Given the description of an element on the screen output the (x, y) to click on. 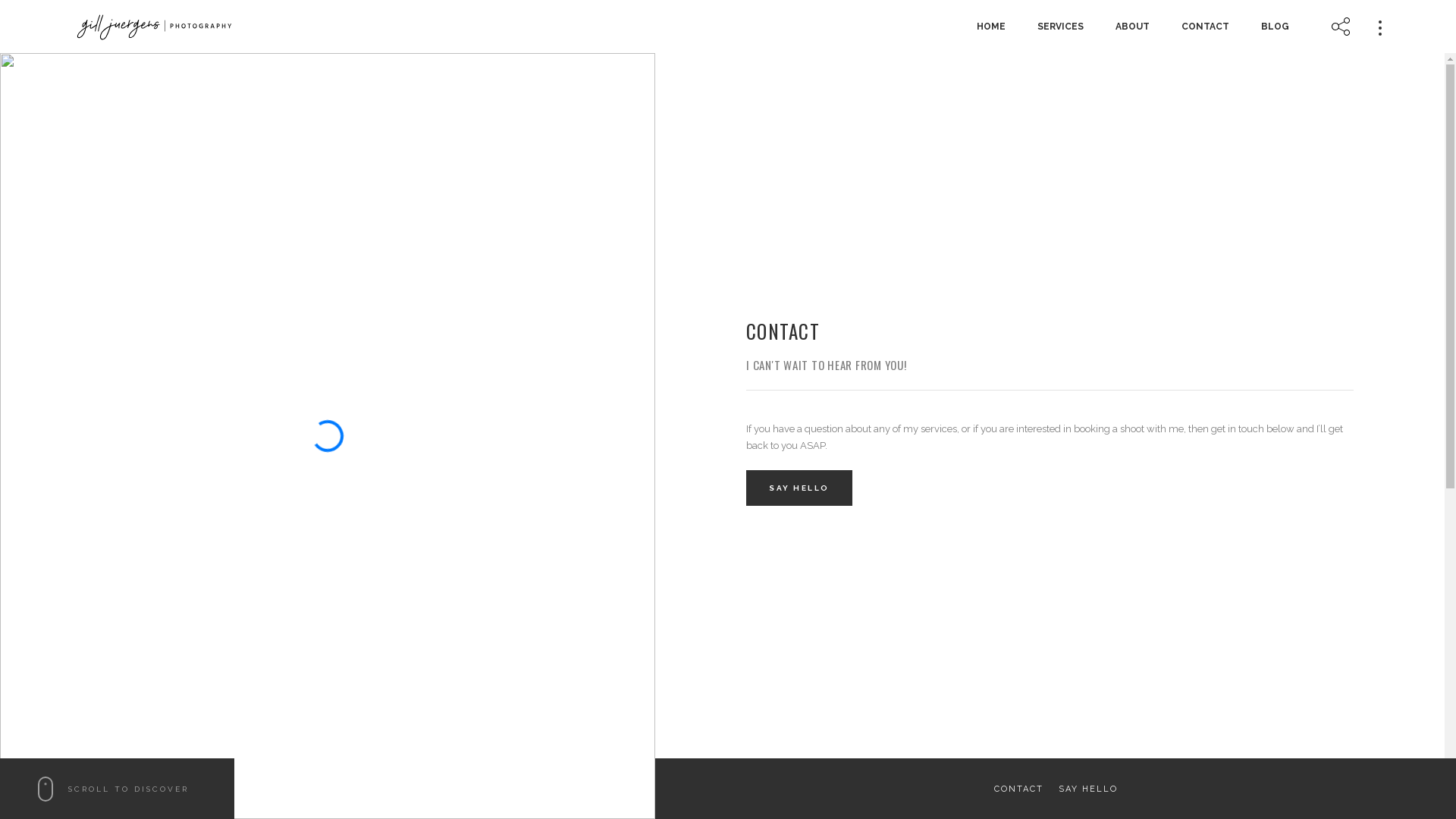
ABOUT Element type: text (1132, 26)
SAY HELLO Element type: text (1087, 788)
HOME Element type: text (990, 26)
CONTACT Element type: text (1205, 26)
SAY HELLO Element type: text (799, 487)
BLOG Element type: text (1274, 26)
SERVICES Element type: text (1060, 26)
CONTACT Element type: text (1017, 788)
